Given the description of an element on the screen output the (x, y) to click on. 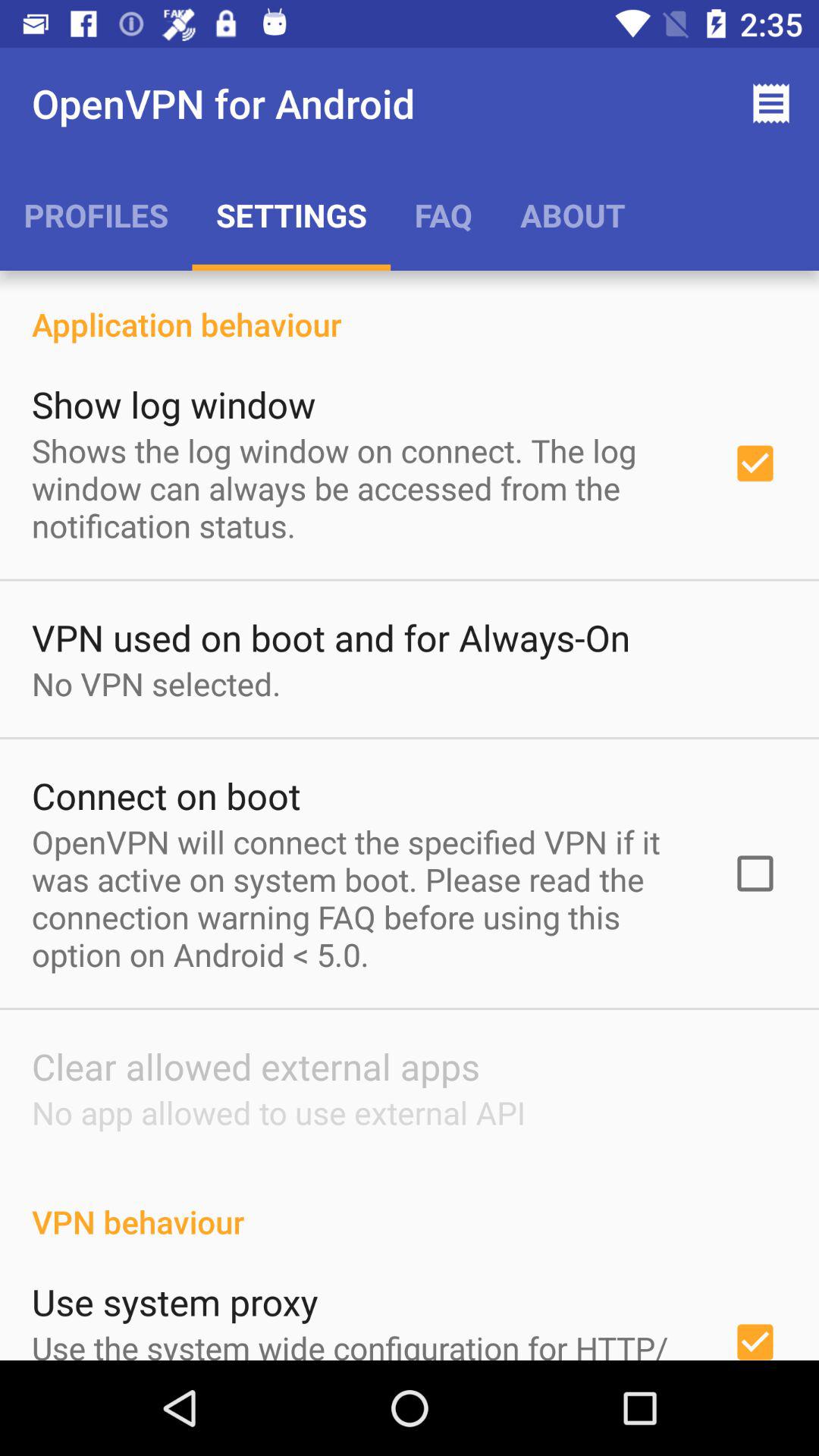
launch item to the right of faq app (572, 214)
